Given the description of an element on the screen output the (x, y) to click on. 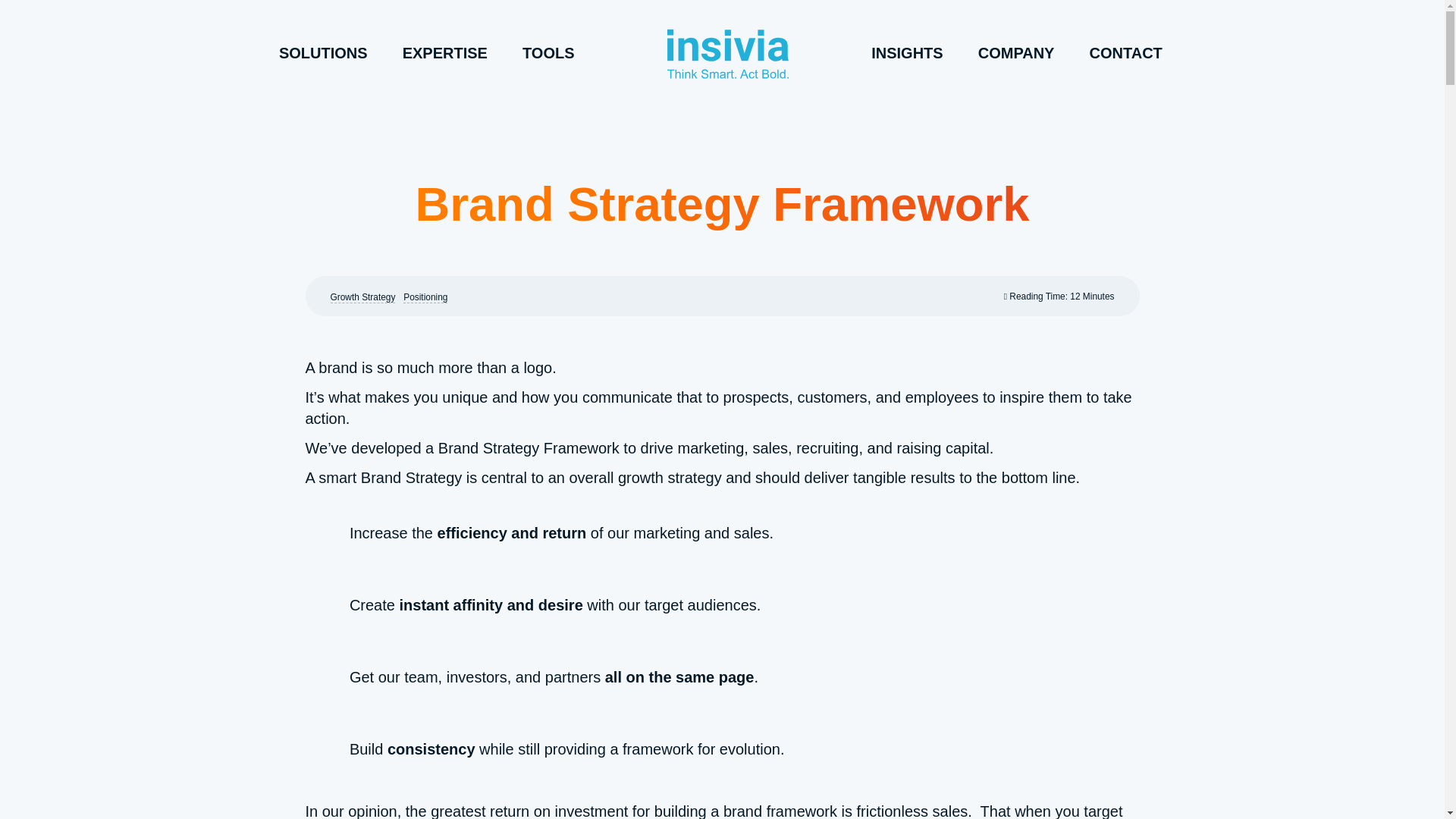
TOOLS (548, 52)
INSIGHTS (906, 52)
EXPERTISE (445, 52)
SOLUTIONS (323, 52)
